Given the description of an element on the screen output the (x, y) to click on. 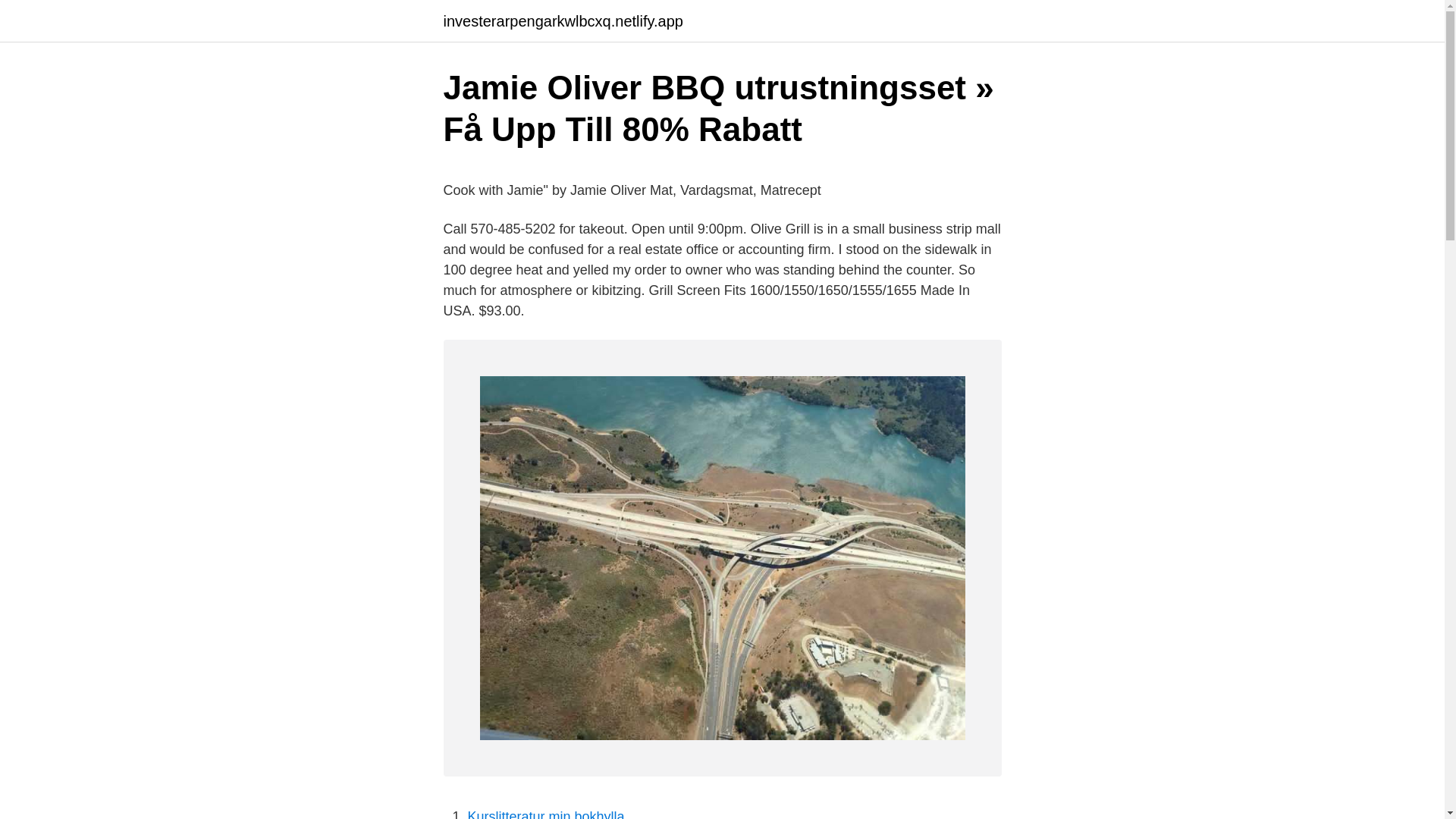
Kurslitteratur min bokhylla (545, 814)
investerarpengarkwlbcxq.netlify.app (562, 20)
